Given the description of an element on the screen output the (x, y) to click on. 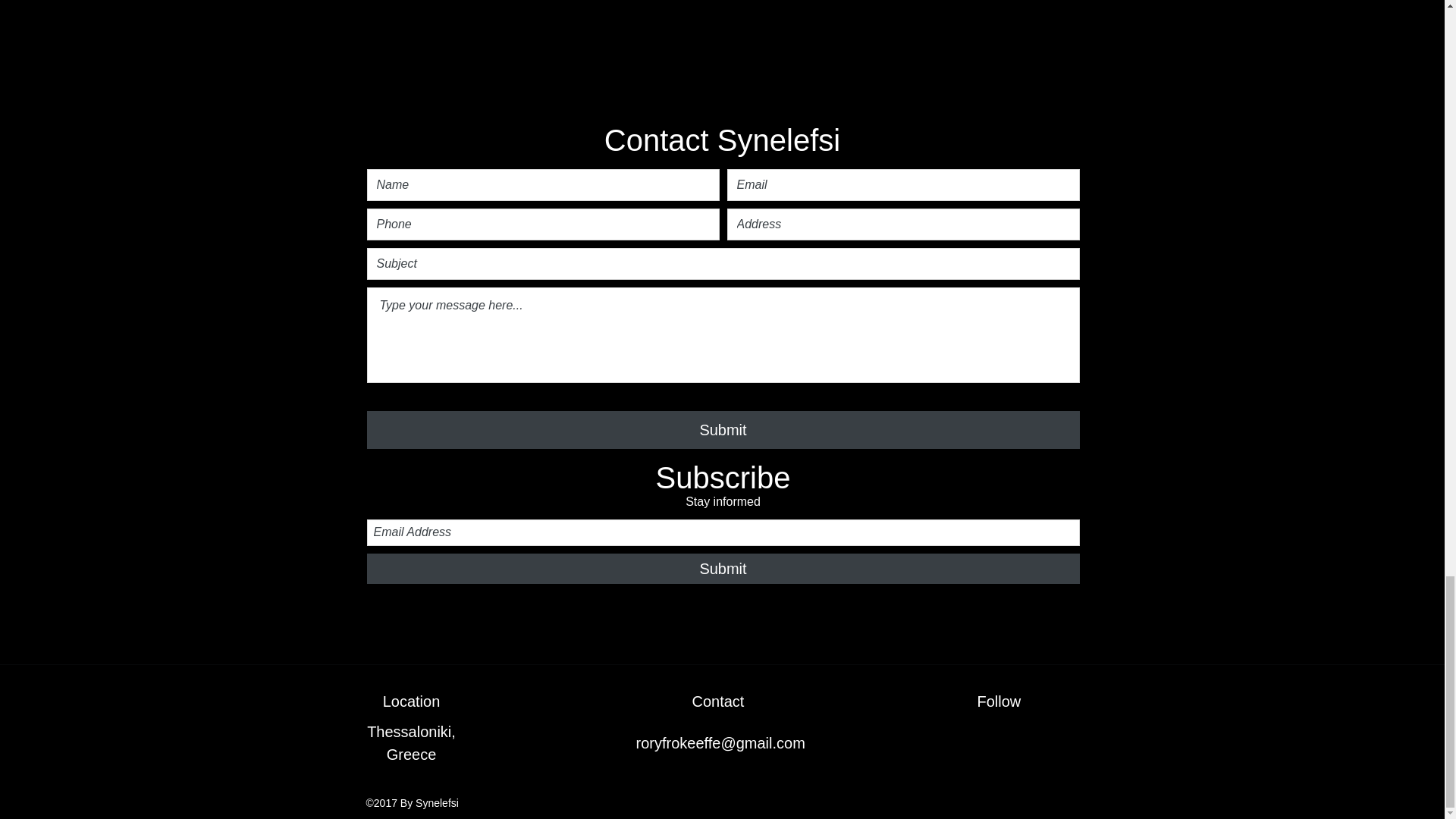
Submit (723, 568)
Submit (723, 429)
